Given the description of an element on the screen output the (x, y) to click on. 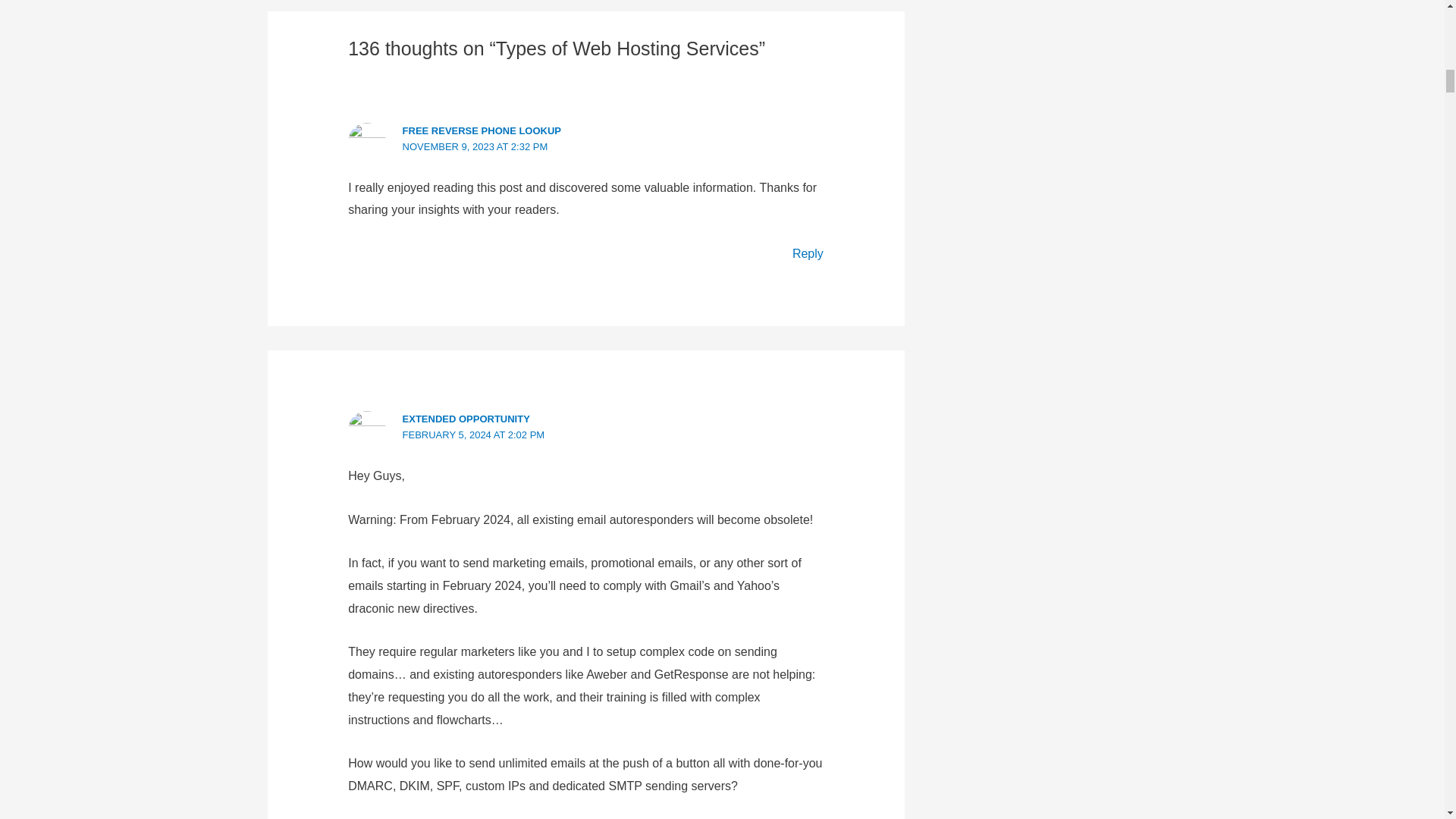
NOVEMBER 9, 2023 AT 2:32 PM (475, 146)
FEBRUARY 5, 2024 AT 2:02 PM (473, 434)
Reply (808, 253)
FREE REVERSE PHONE LOOKUP (481, 130)
